Given the description of an element on the screen output the (x, y) to click on. 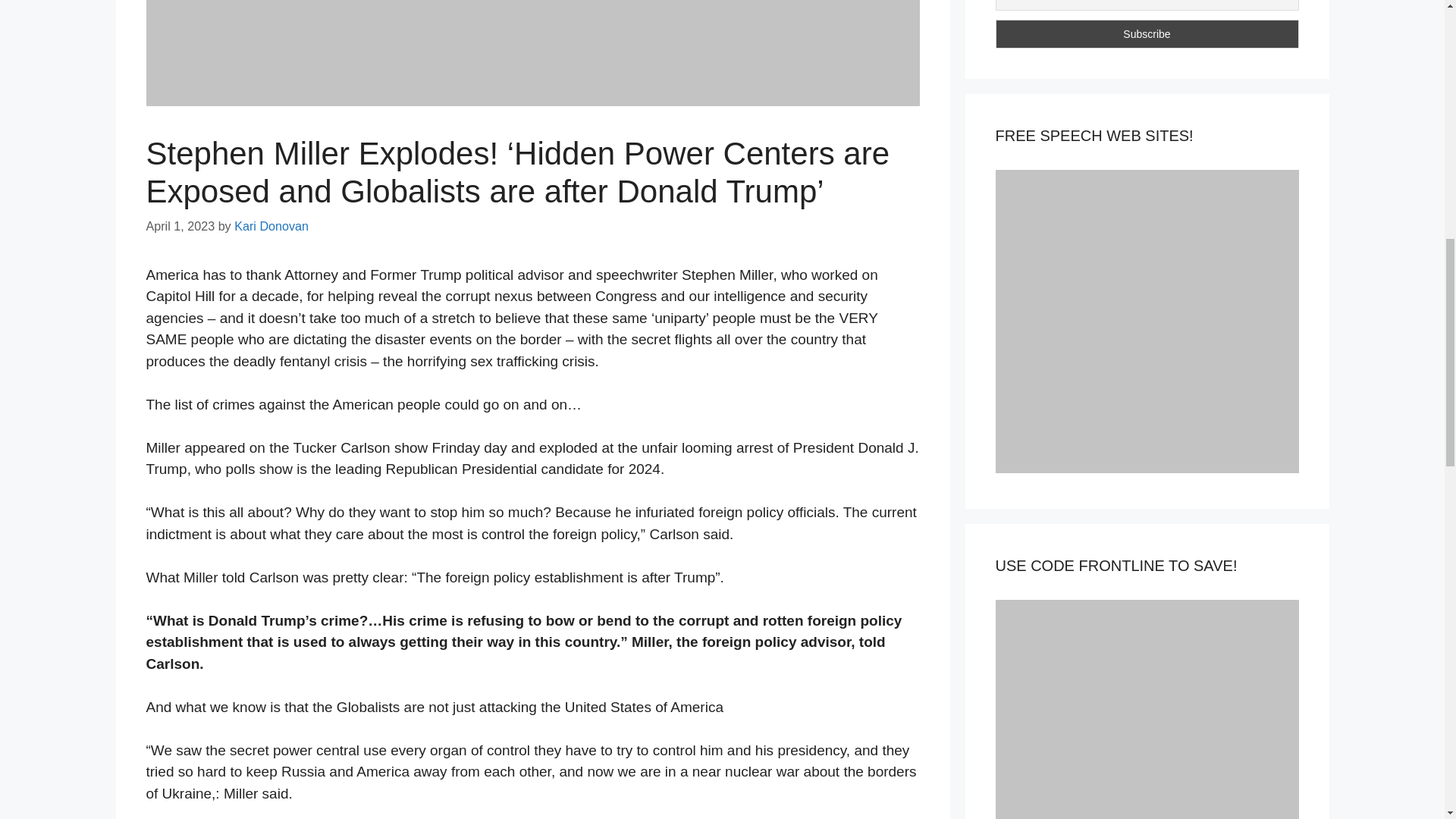
Subscribe (1146, 33)
Kari Donovan (271, 225)
View all posts by Kari Donovan (271, 225)
